Given the description of an element on the screen output the (x, y) to click on. 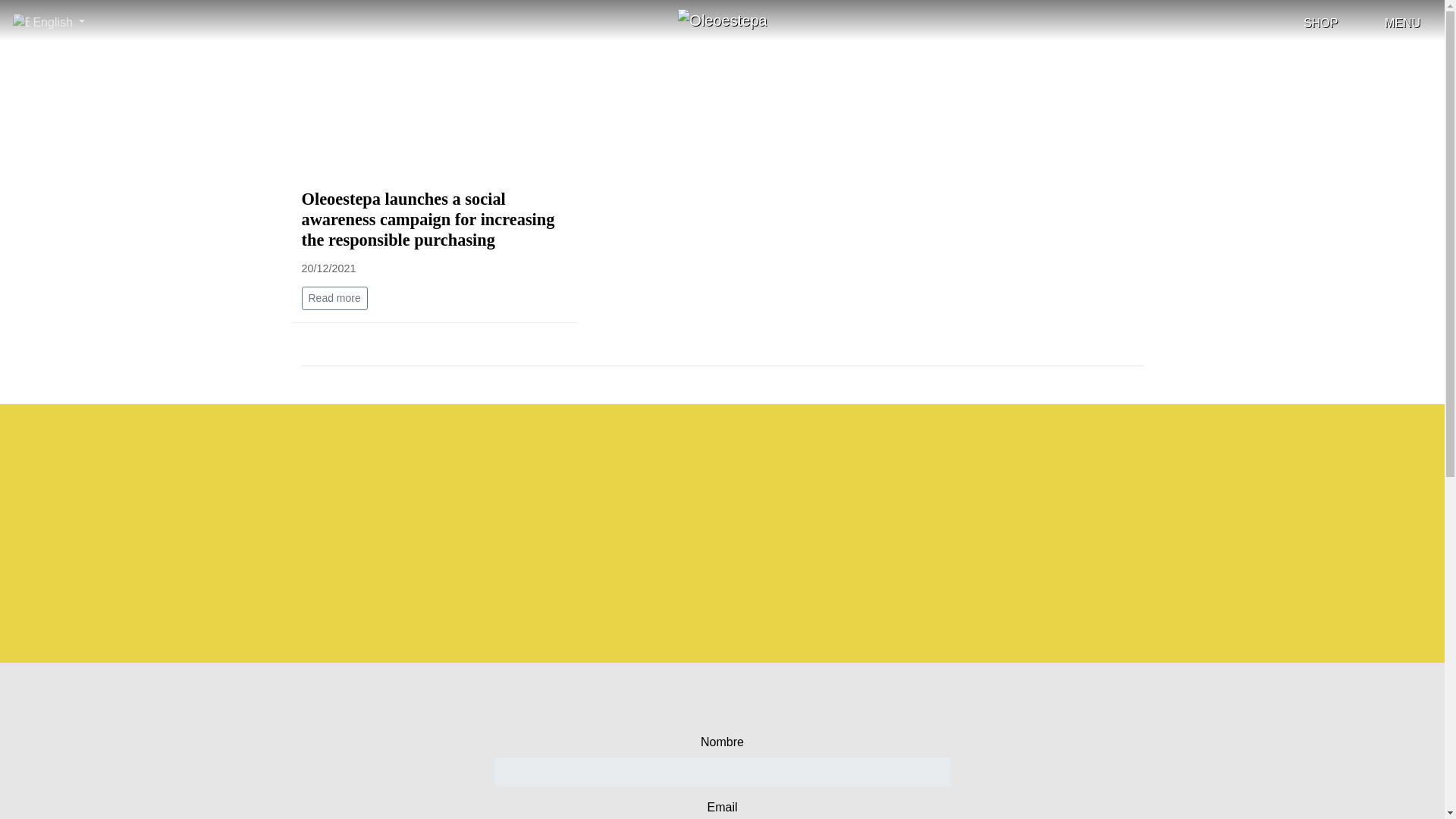
SHOP (1310, 23)
Read more (334, 298)
MENU (1390, 23)
English (52, 21)
